Given the description of an element on the screen output the (x, y) to click on. 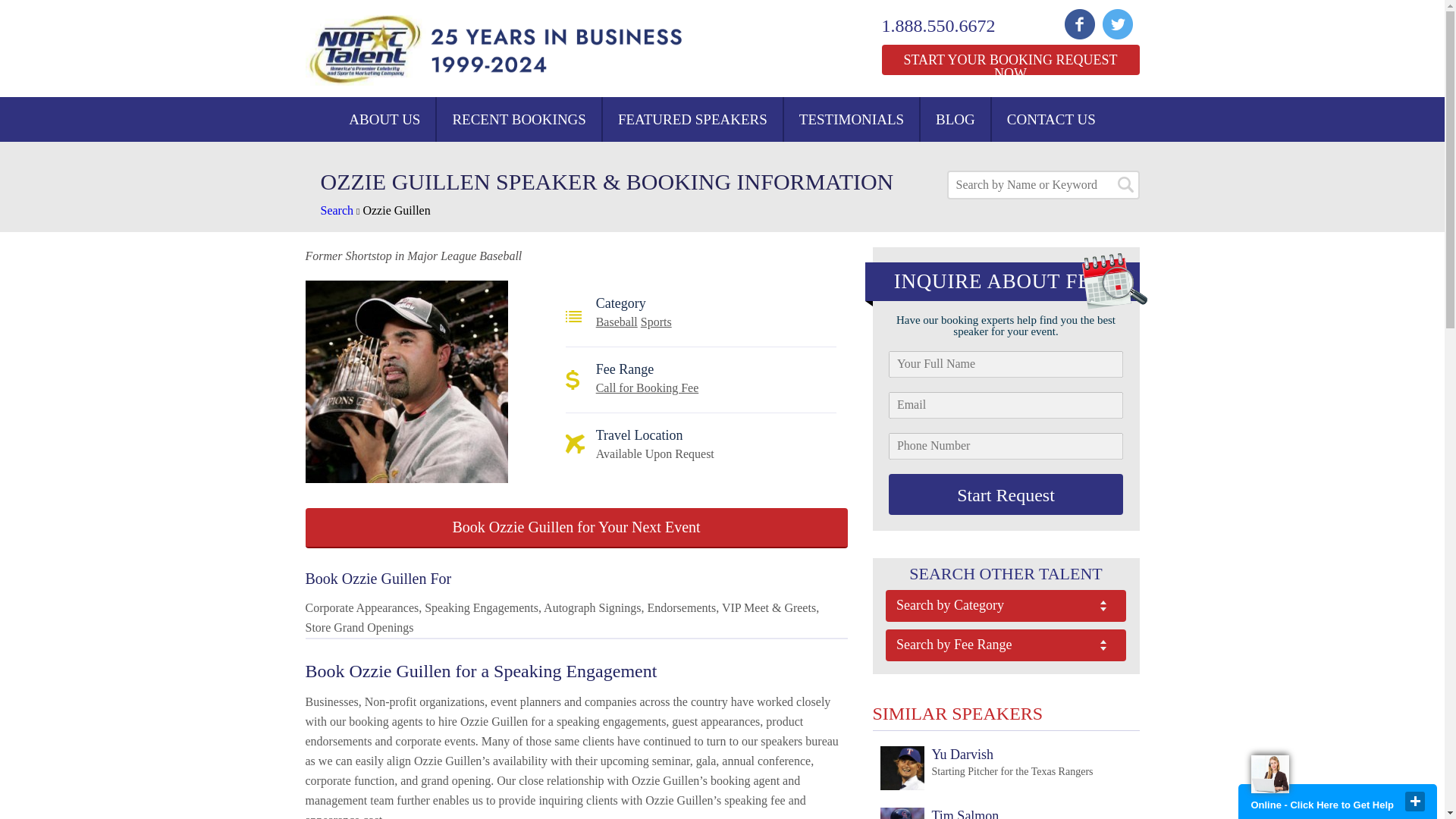
Search (336, 210)
Book Ozzie Guillen for Your Next Event (575, 527)
Baseball (616, 321)
RECENT BOOKINGS (517, 119)
FEATURED SPEAKERS (692, 119)
TESTIMONIALS (851, 119)
Sports (655, 321)
Ozzie Guillen (395, 210)
START YOUR BOOKING REQUEST NOW (986, 769)
BLOG (1009, 60)
Call for Booking Fee (955, 119)
CONTACT US (646, 387)
Search by Fee Range (1050, 119)
